Given the description of an element on the screen output the (x, y) to click on. 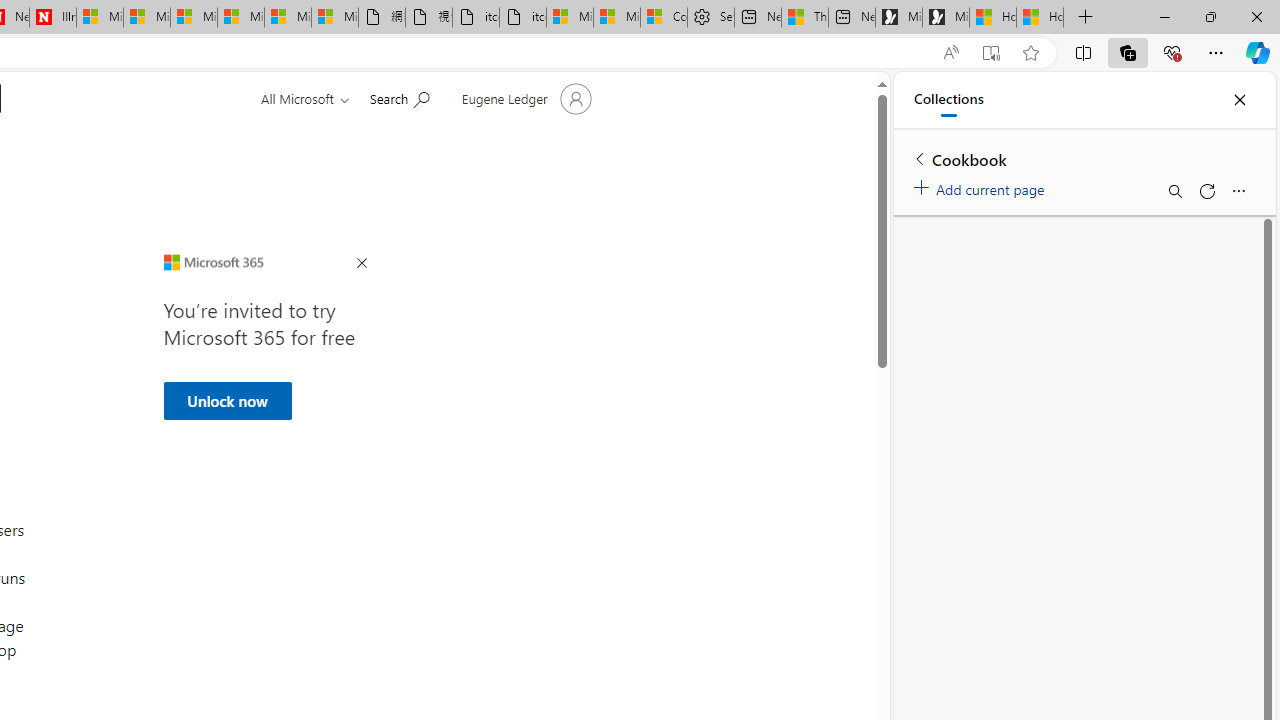
Back to list of collections (920, 158)
Close Ad (361, 264)
Account manager for Eugene Ledger (524, 98)
Consumer Health Data Privacy Policy (664, 17)
itconcepthk.com/projector_solutions.mp4 (523, 17)
Search for help (399, 97)
How to Use a TV as a Computer Monitor (1040, 17)
Unlock now (226, 399)
